Given the description of an element on the screen output the (x, y) to click on. 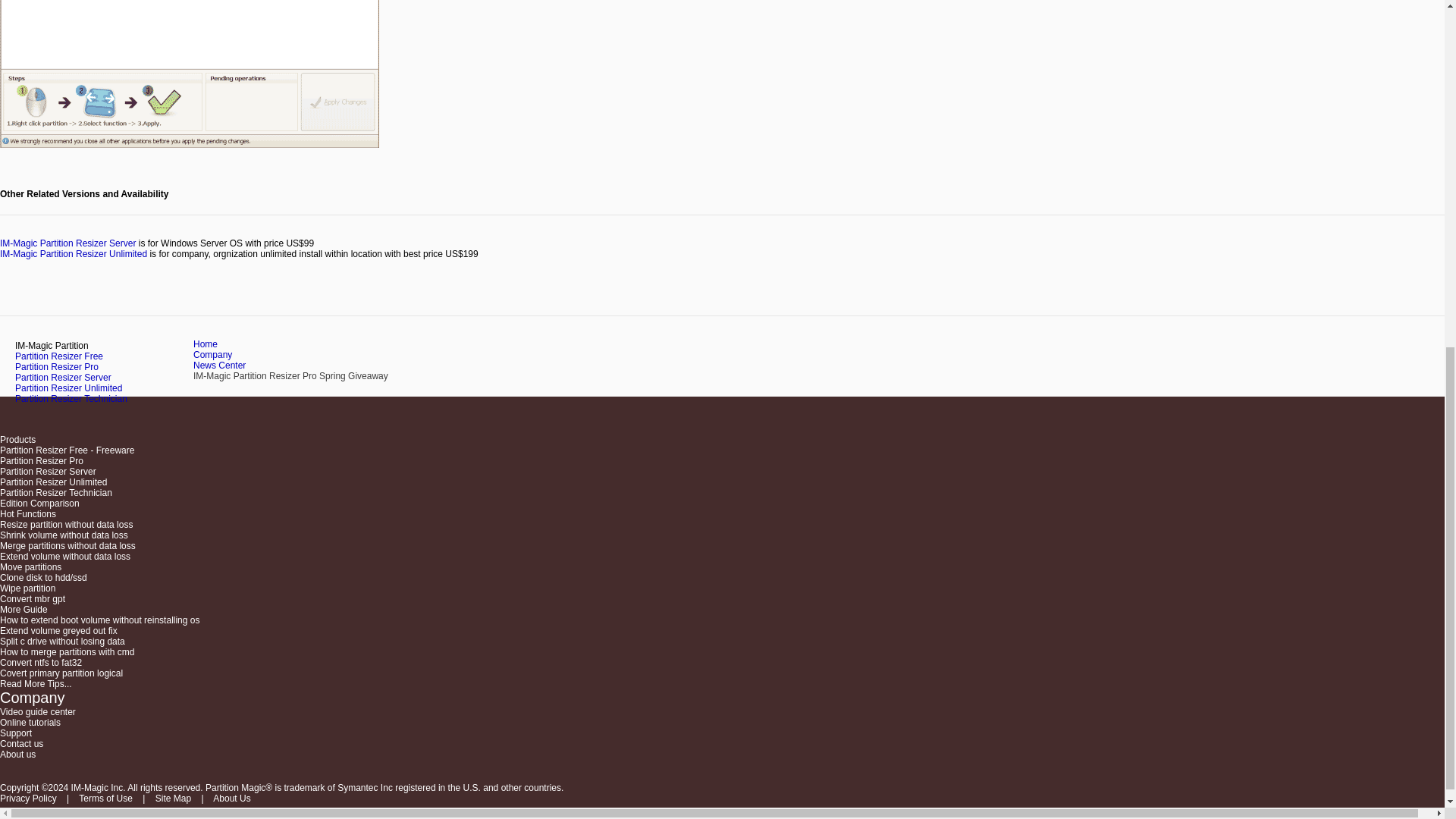
Extend volume without data loss (65, 556)
Company (212, 354)
Convert mbr gpt (32, 598)
Partition Resizer Technician (56, 492)
Partition Resizer Pro (56, 366)
IM-Magic Partition Resizer Unlimited (73, 253)
Partition Resizer Free (43, 450)
Partition Resizer Server (48, 471)
Partition Resizer Technician (71, 398)
Partition Resizer Server (63, 377)
Edition Comparison (40, 502)
Shrink volume without data loss (64, 534)
IM-Magic Partition Resizer Server (67, 243)
Move partitions (30, 566)
windows server resize (67, 243)
